Given the description of an element on the screen output the (x, y) to click on. 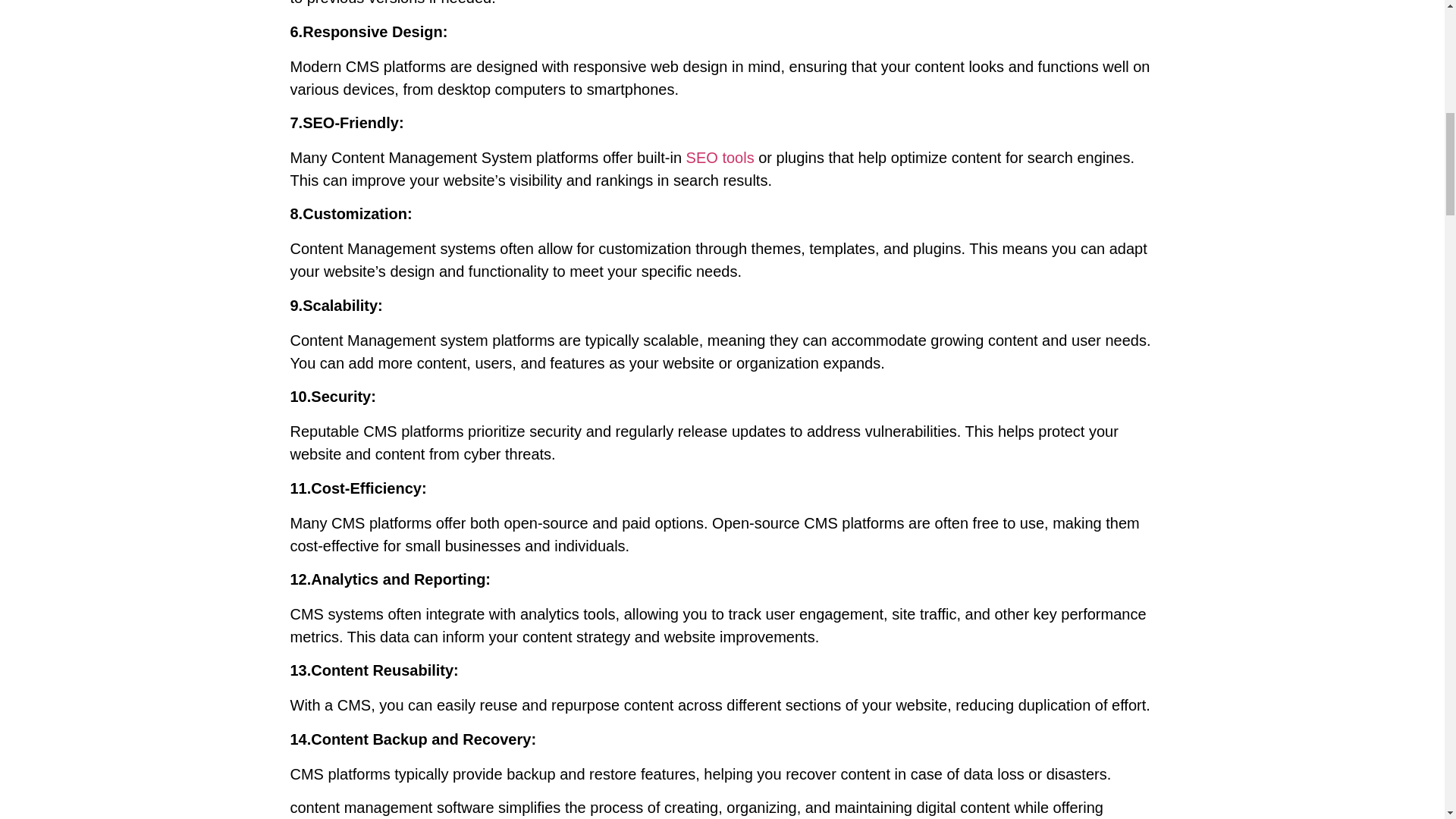
SEO tools (719, 157)
